Given the description of an element on the screen output the (x, y) to click on. 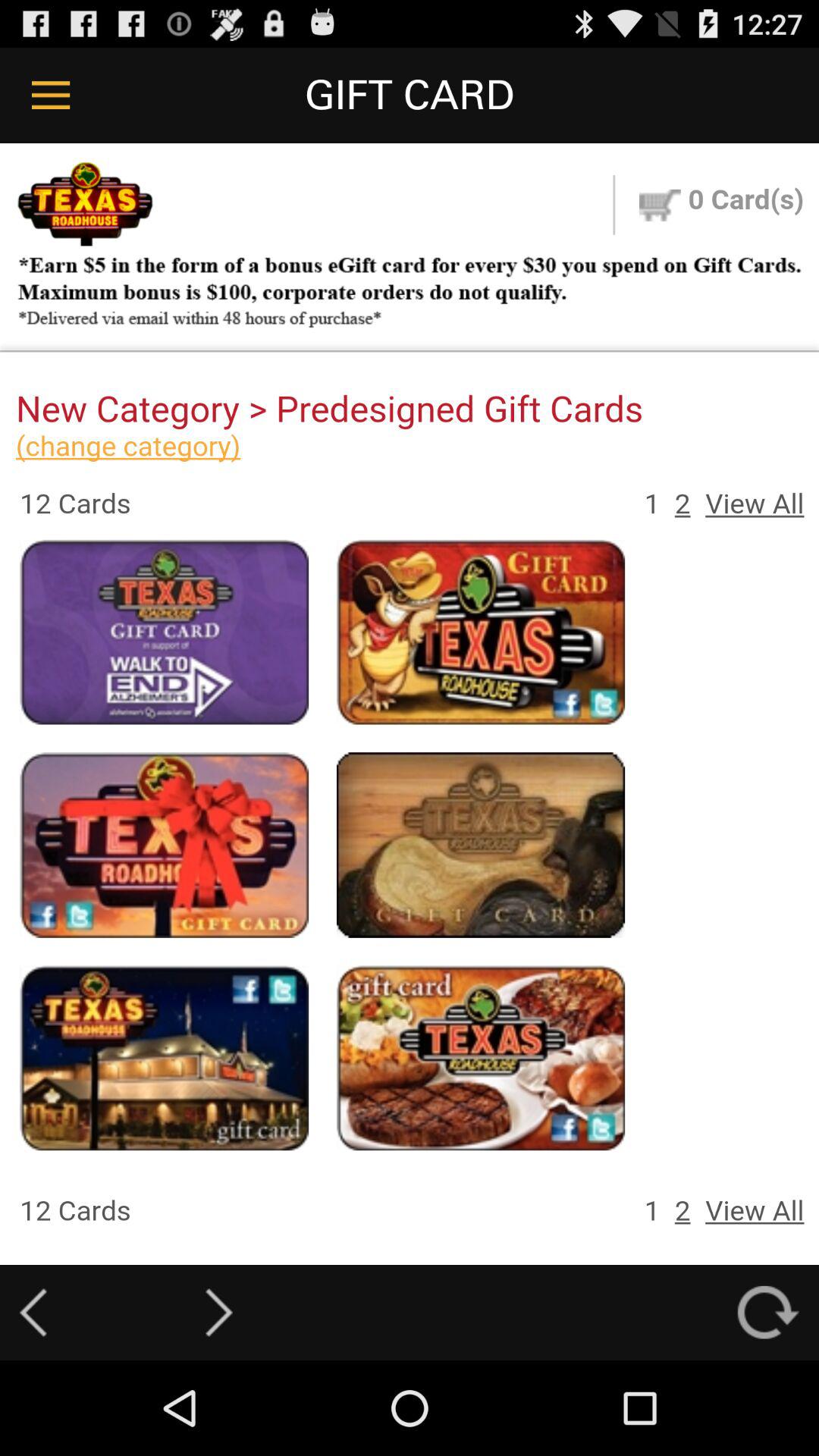
go back (32, 1312)
